Given the description of an element on the screen output the (x, y) to click on. 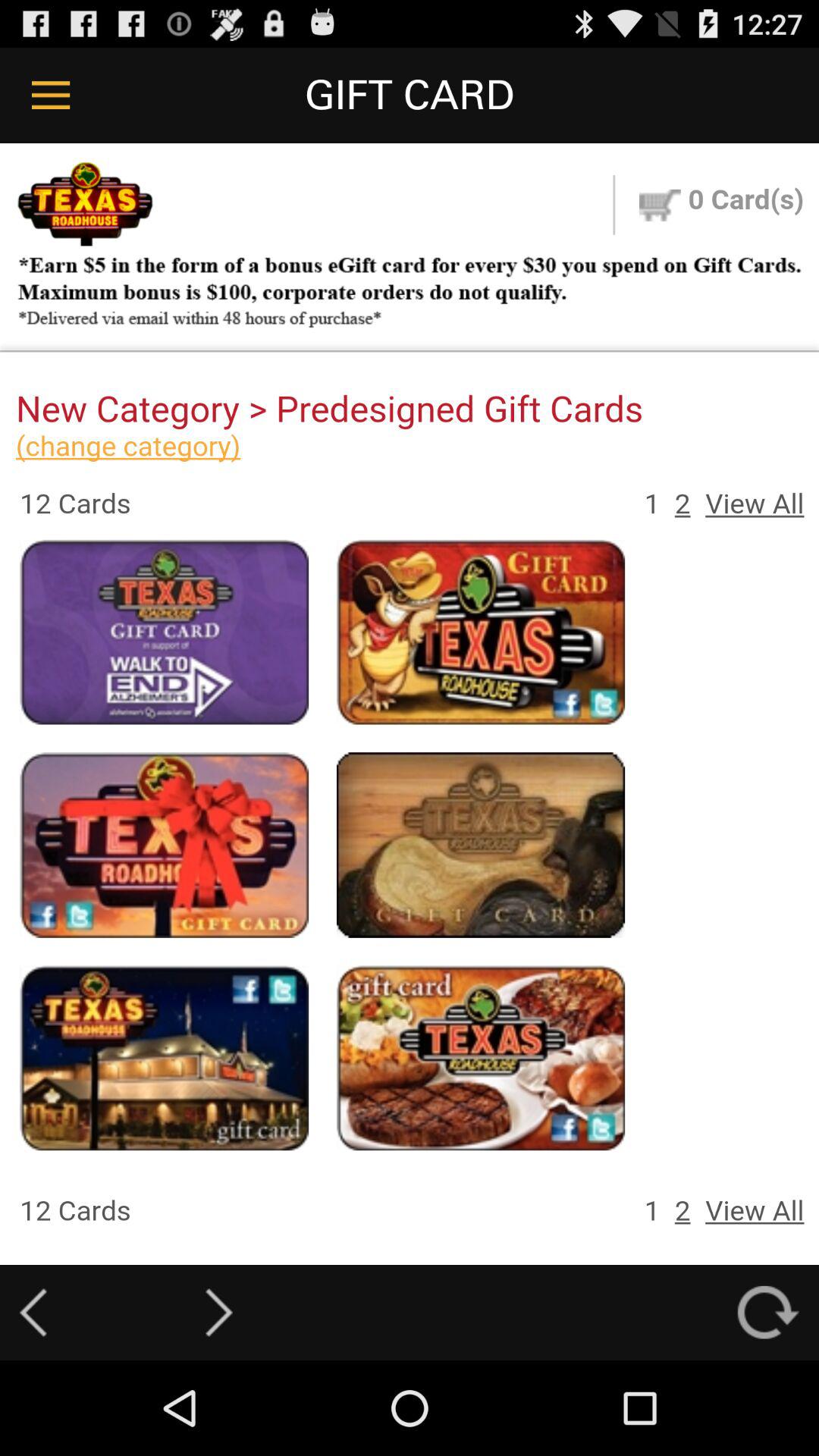
go back (32, 1312)
